Given the description of an element on the screen output the (x, y) to click on. 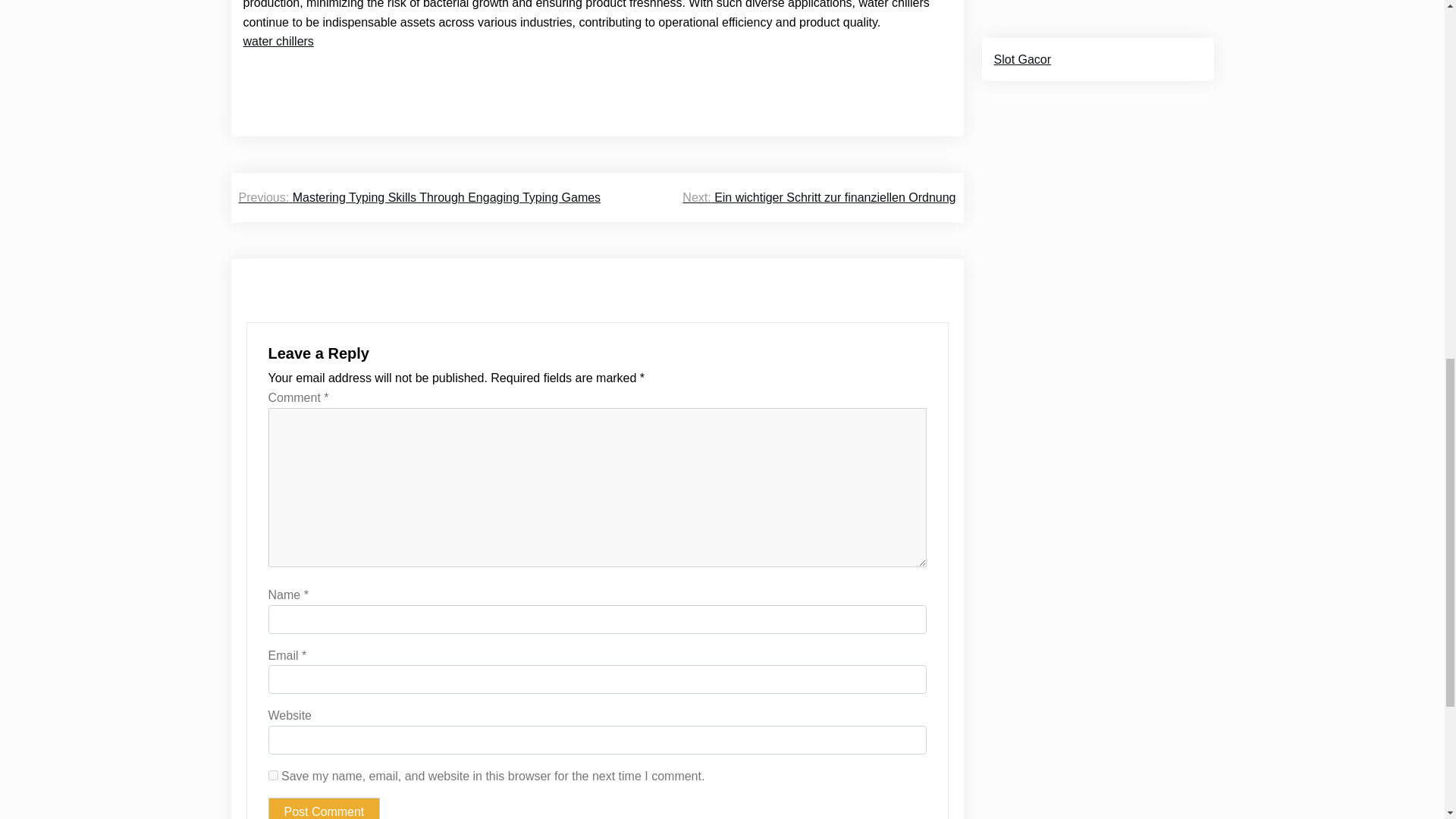
yes (272, 775)
Post Comment (323, 808)
